Given the description of an element on the screen output the (x, y) to click on. 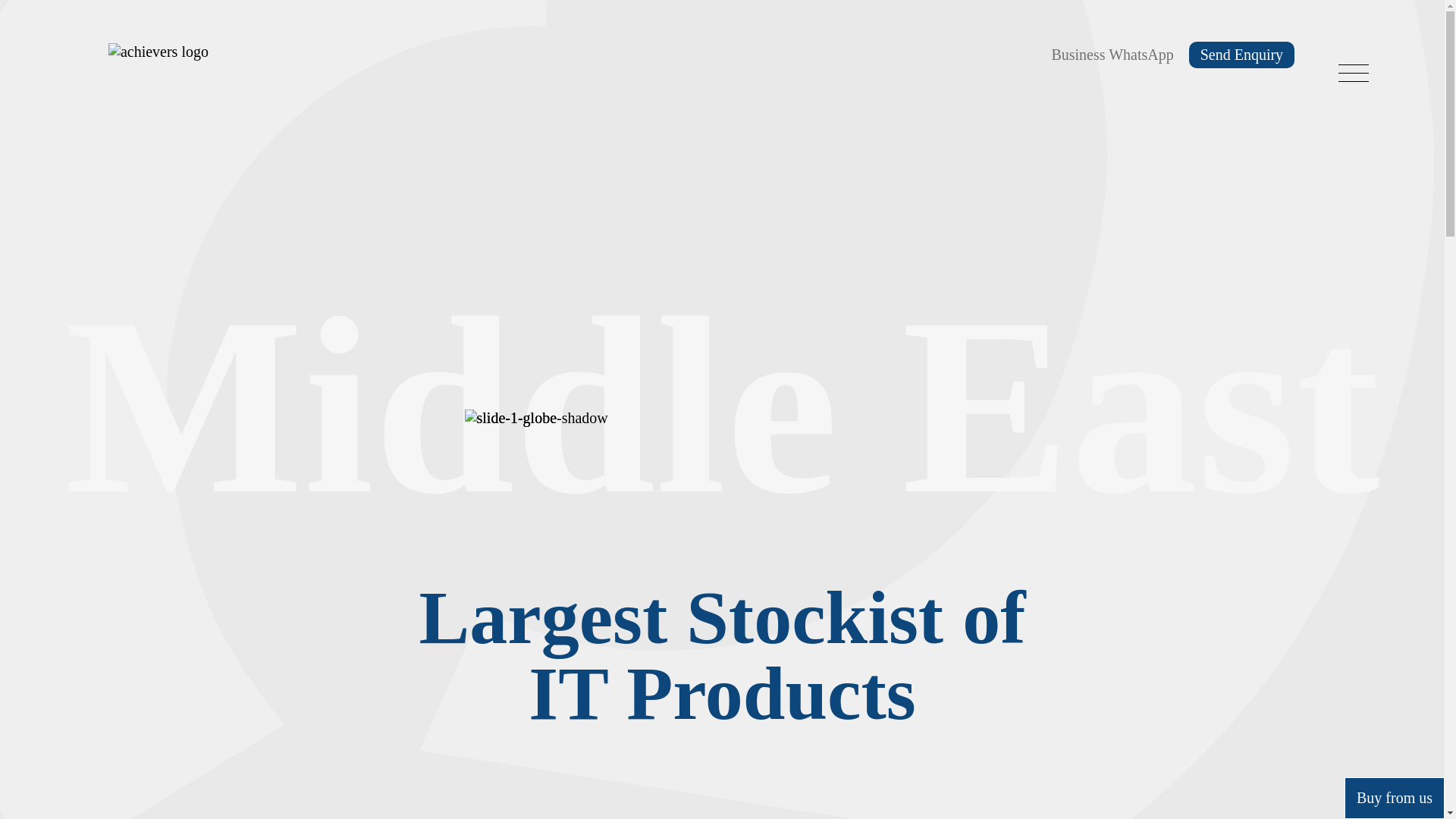
Business WhatsApp (1112, 54)
Buy from us (1394, 797)
Send Enquiry (1241, 54)
